Given the description of an element on the screen output the (x, y) to click on. 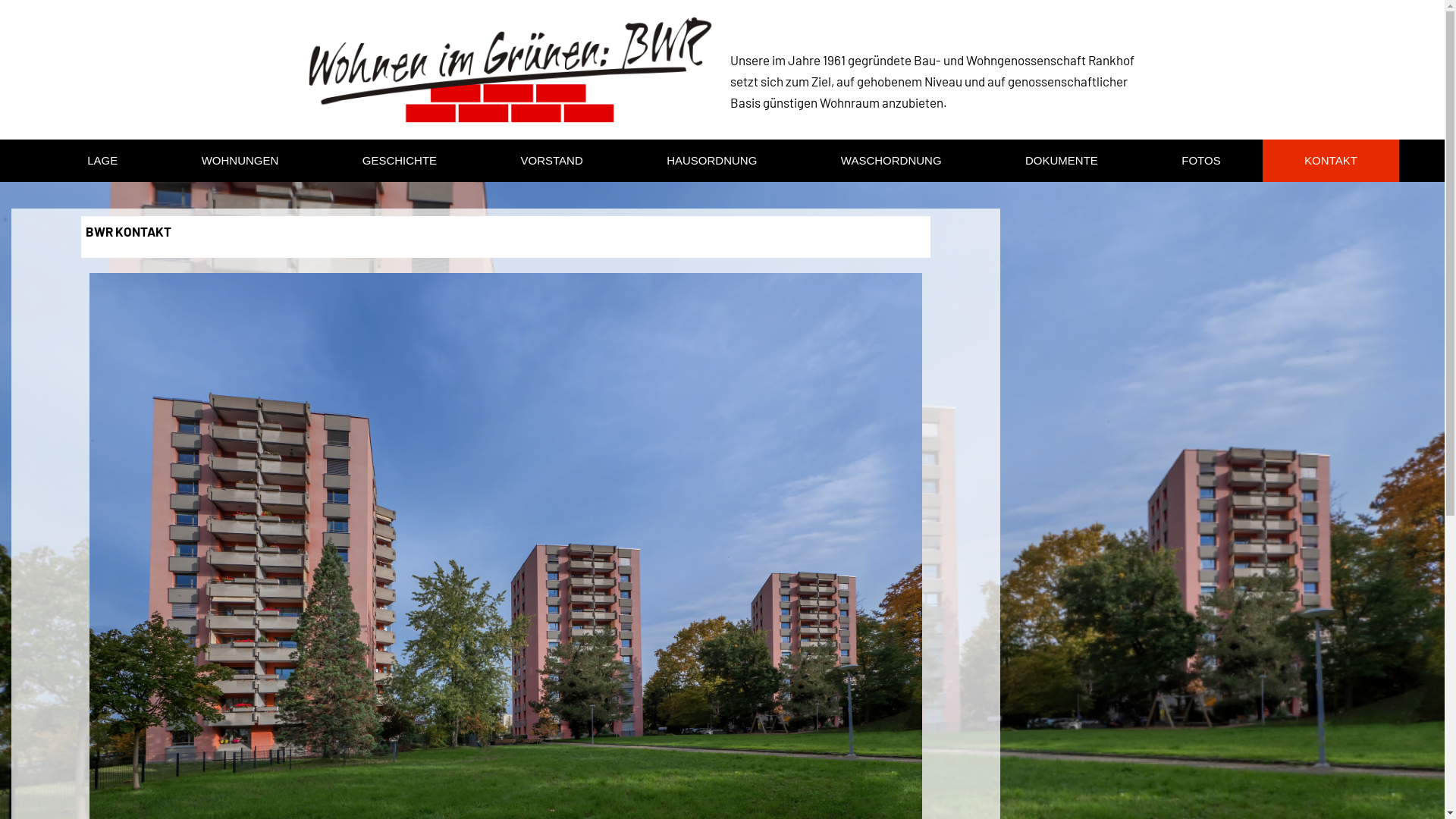
VORSTAND Element type: text (551, 160)
WOHNUNGEN Element type: text (239, 160)
WASCHORDNUNG Element type: text (891, 160)
LAGE Element type: text (102, 160)
FOTOS Element type: text (1200, 160)
DOKUMENTE Element type: text (1061, 160)
GESCHICHTE Element type: text (399, 160)
HAUSORDNUNG Element type: text (711, 160)
KONTAKT Element type: text (1330, 160)
